Given the description of an element on the screen output the (x, y) to click on. 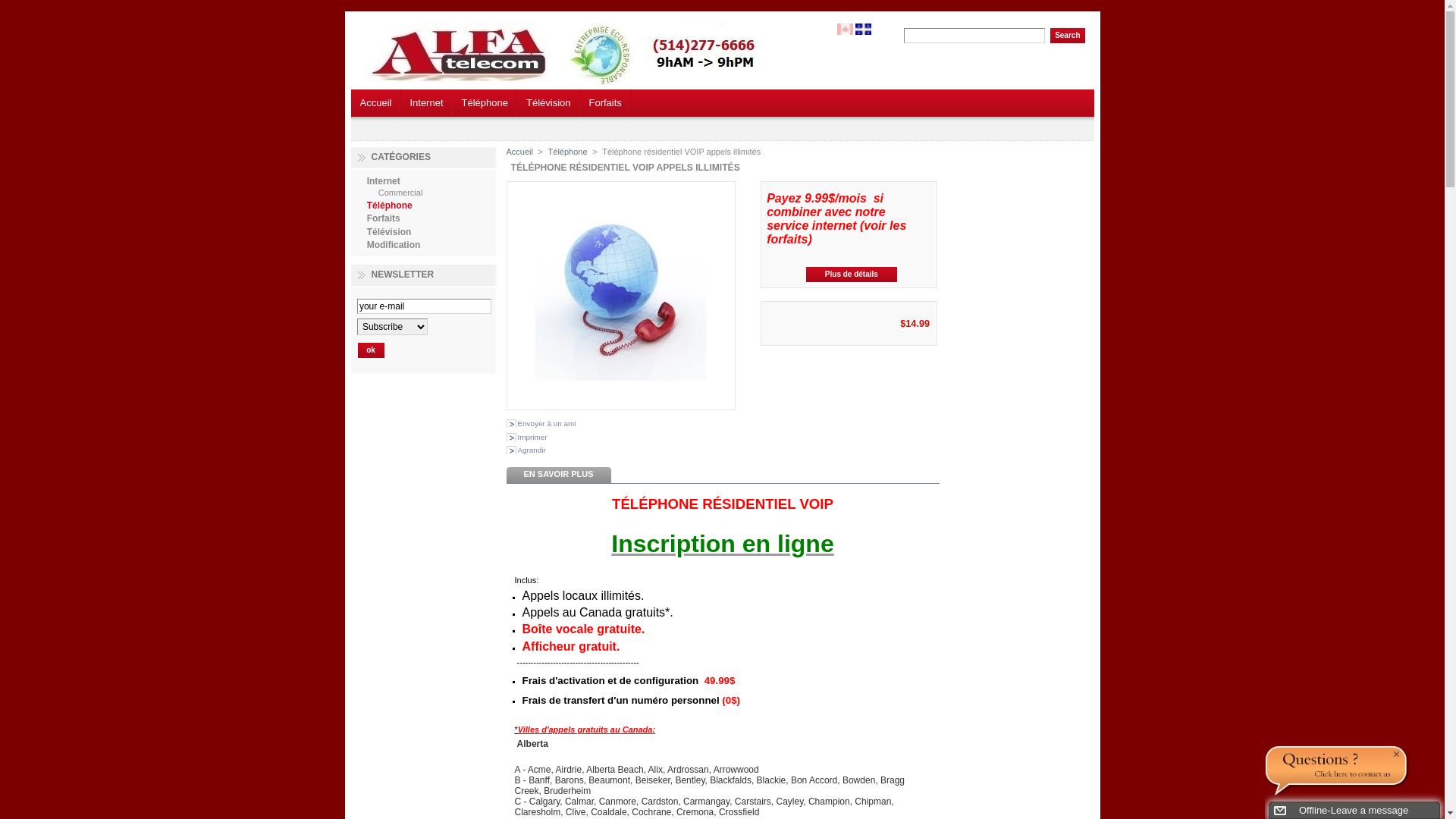
Internet Element type: text (425, 102)
English (English) Element type: hover (845, 31)
Inscription en ligne Element type: text (722, 543)
Internet Element type: text (383, 180)
Forfaits Element type: text (604, 102)
Accueil Element type: text (375, 102)
Accueil Element type: text (519, 151)
Commercial Element type: text (400, 192)
EN SAVOIR PLUS Element type: text (558, 475)
Imprimer Element type: text (526, 437)
ok Element type: text (370, 349)
Modification Element type: text (393, 244)
Search Element type: text (1067, 35)
Forfaits Element type: text (383, 218)
